Given the description of an element on the screen output the (x, y) to click on. 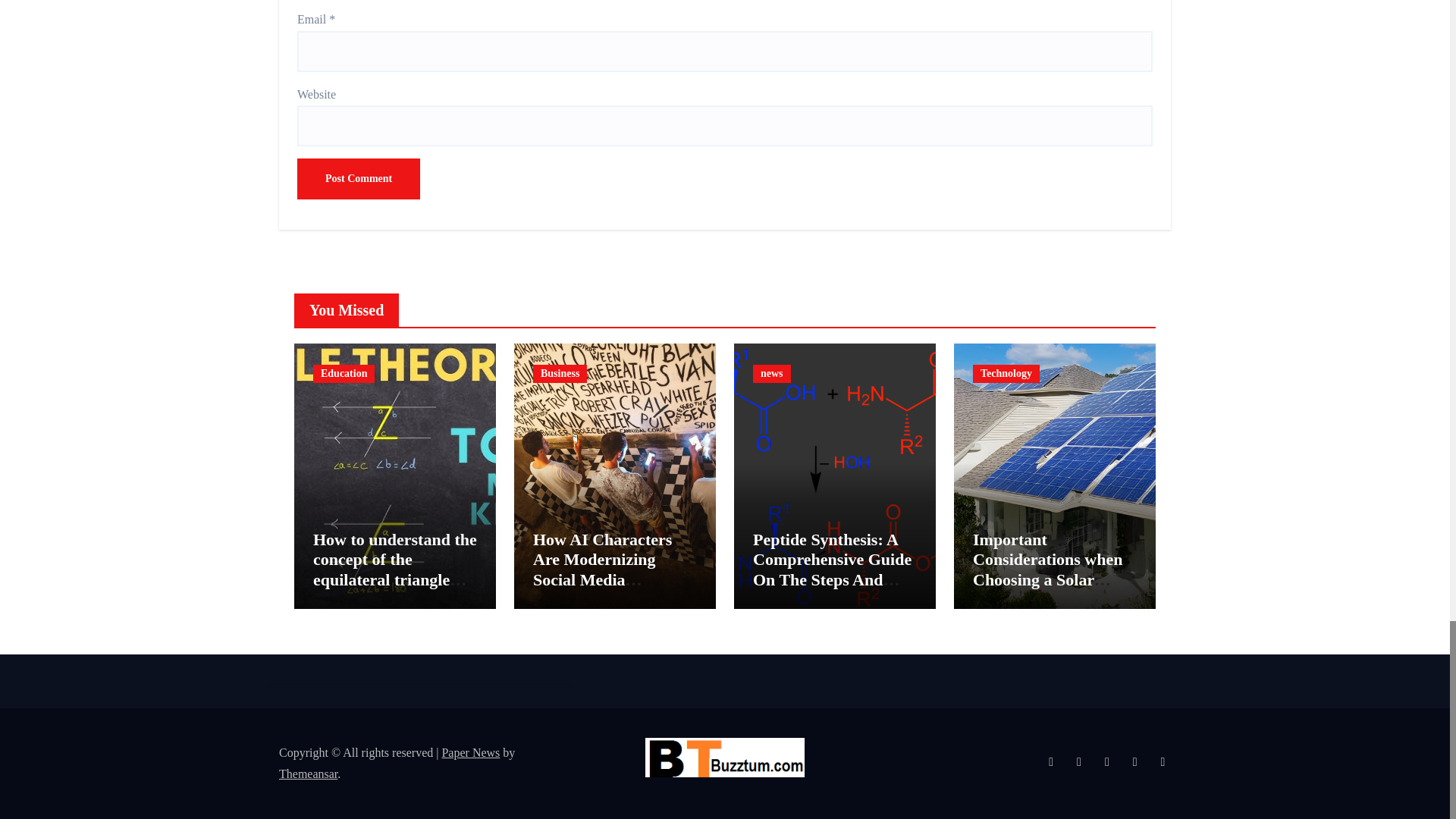
Post Comment (358, 178)
